Given the description of an element on the screen output the (x, y) to click on. 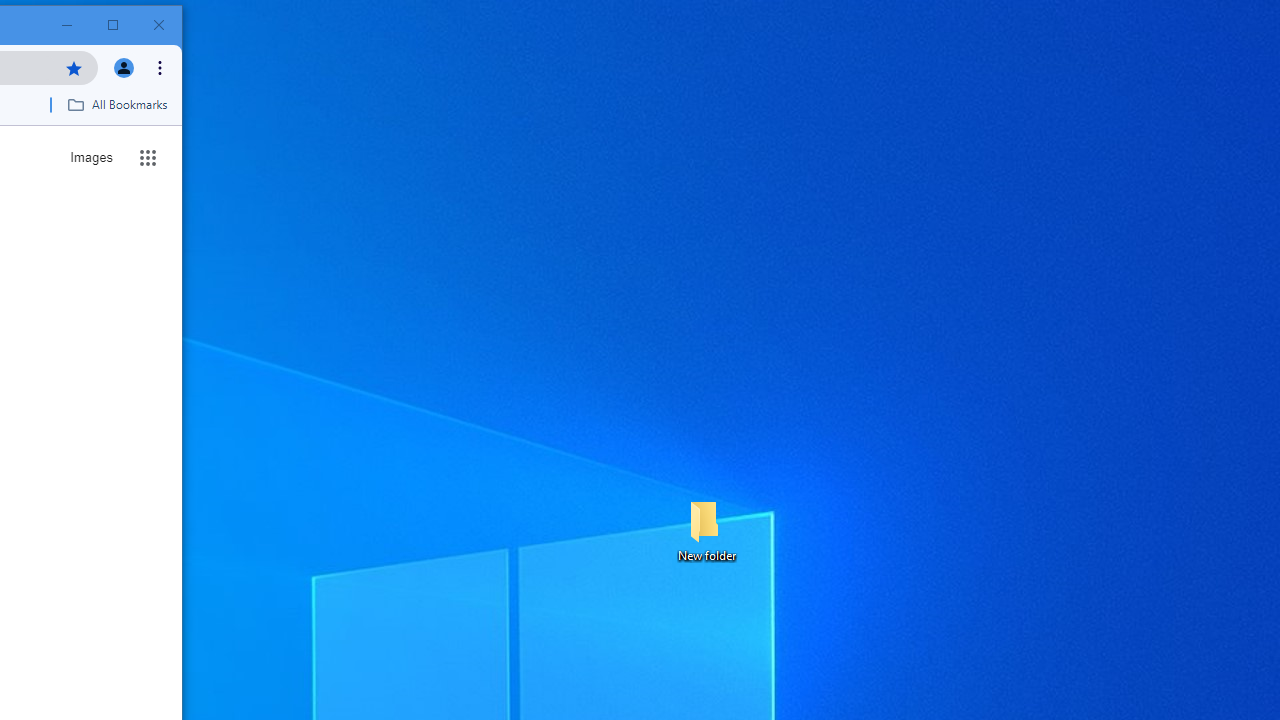
New folder (706, 530)
